Given the description of an element on the screen output the (x, y) to click on. 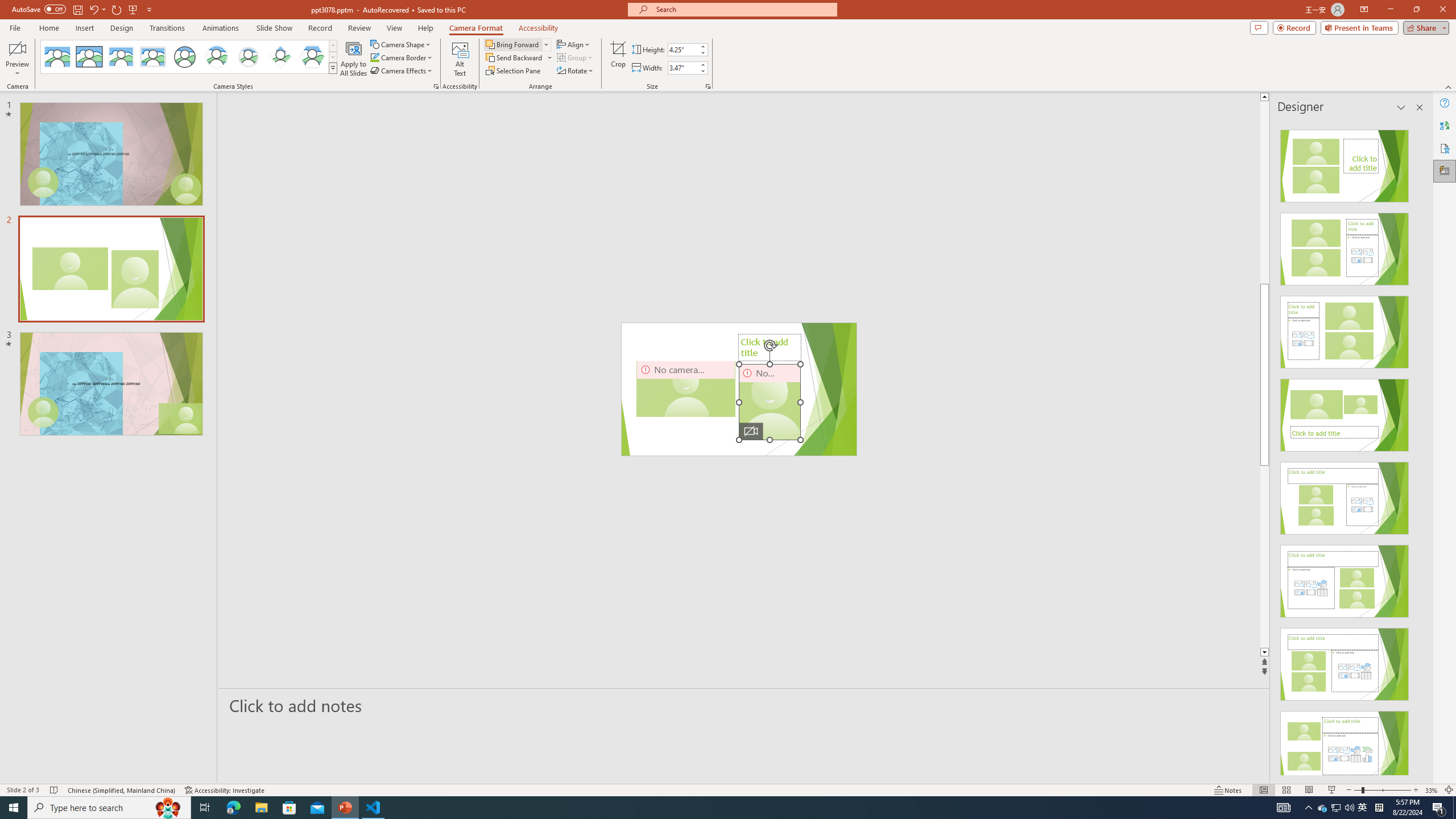
Cameo Height (682, 49)
Recommended Design: Design Idea (1344, 162)
Send Backward (514, 56)
Bring Forward (513, 44)
Apply to All Slides (353, 58)
Center Shadow Rectangle (120, 56)
Soft Edge Circle (248, 56)
Bring Forward (517, 44)
Size and Position... (707, 85)
Camera Shape (400, 44)
